Given the description of an element on the screen output the (x, y) to click on. 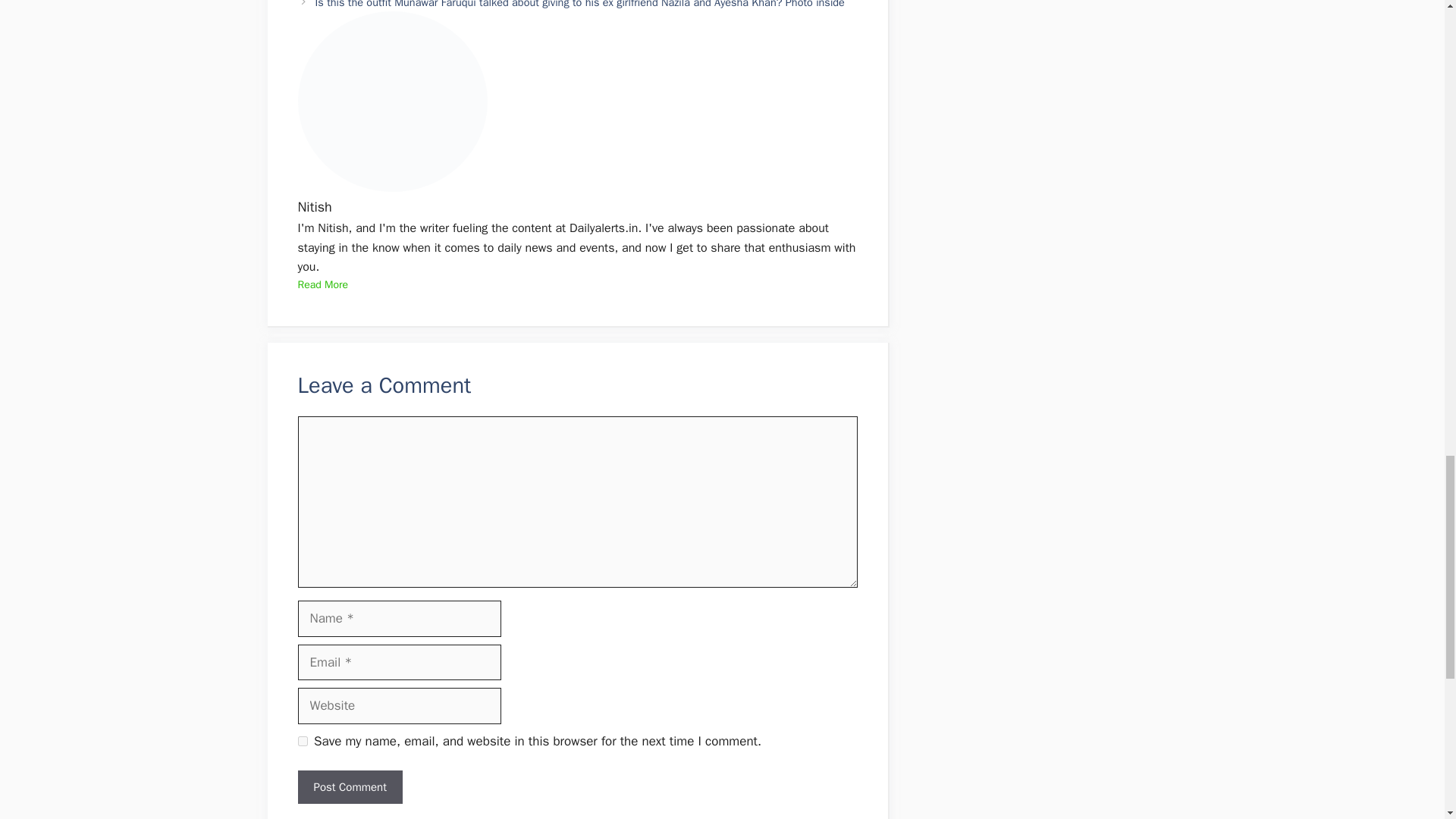
Read more about this author (322, 284)
Post Comment (349, 787)
Read More (322, 284)
yes (302, 741)
Post Comment (349, 787)
